Given the description of an element on the screen output the (x, y) to click on. 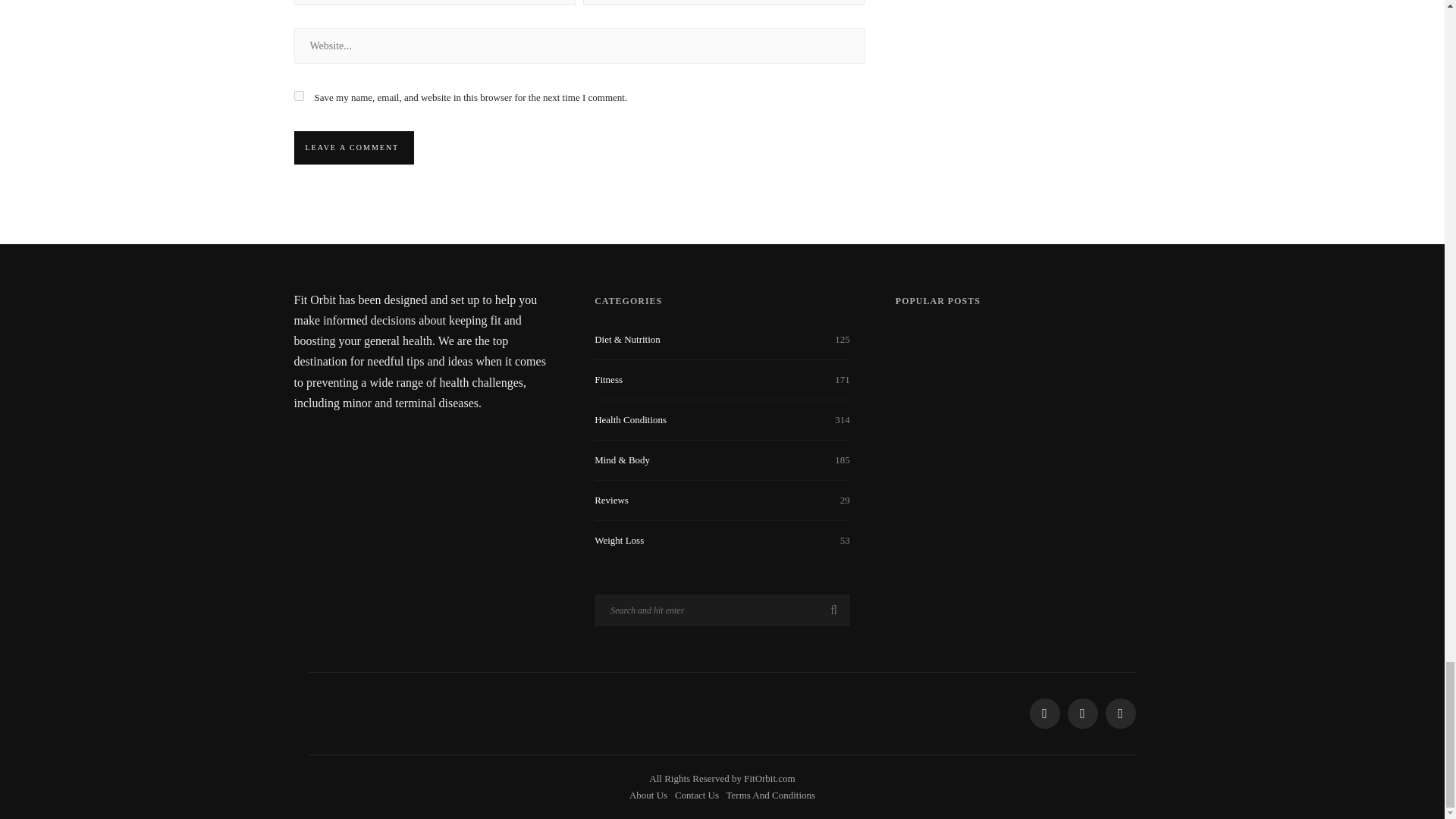
Leave a comment (351, 147)
yes (299, 95)
